Given the description of an element on the screen output the (x, y) to click on. 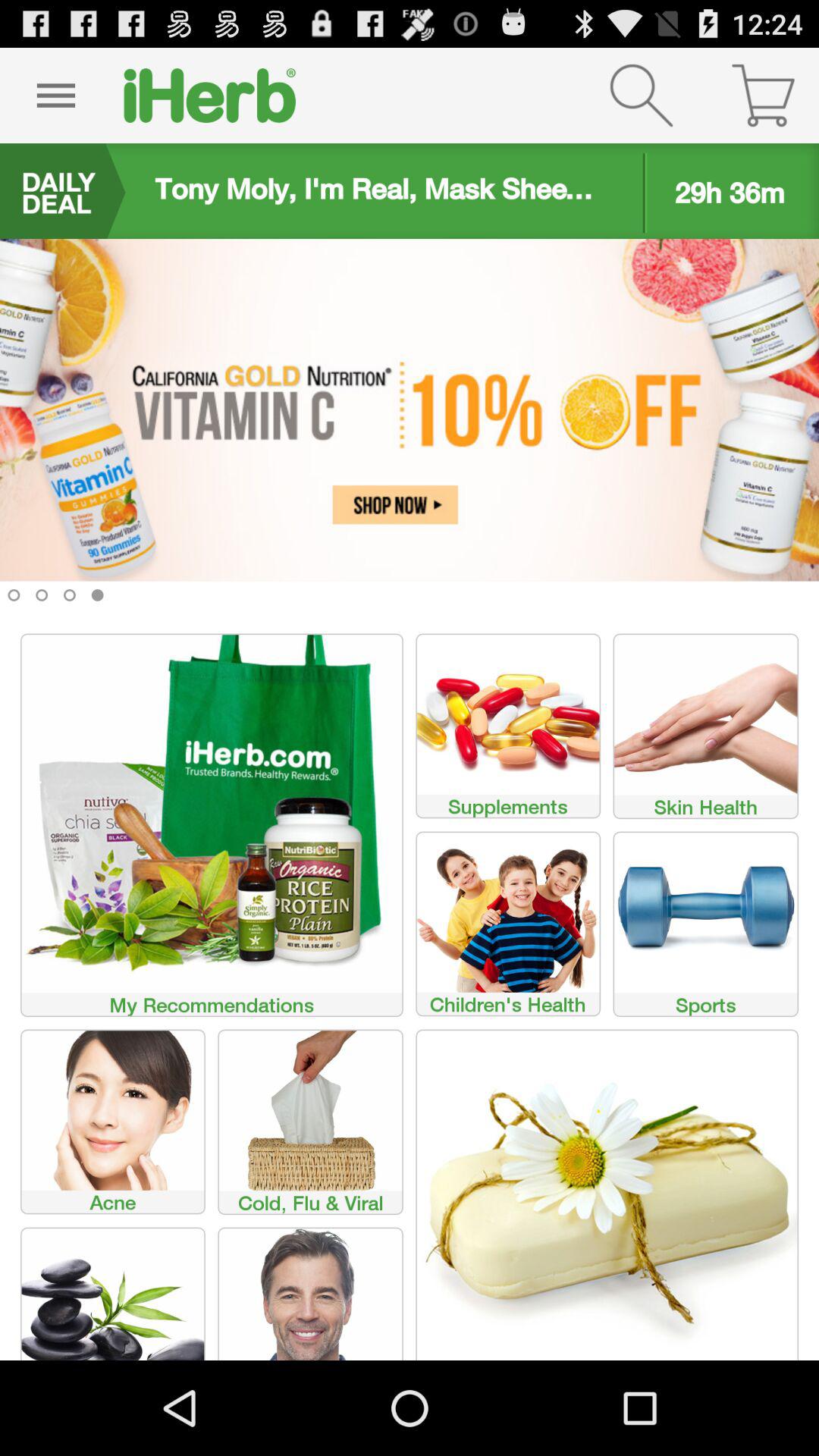
open offer (409, 431)
